Given the description of an element on the screen output the (x, y) to click on. 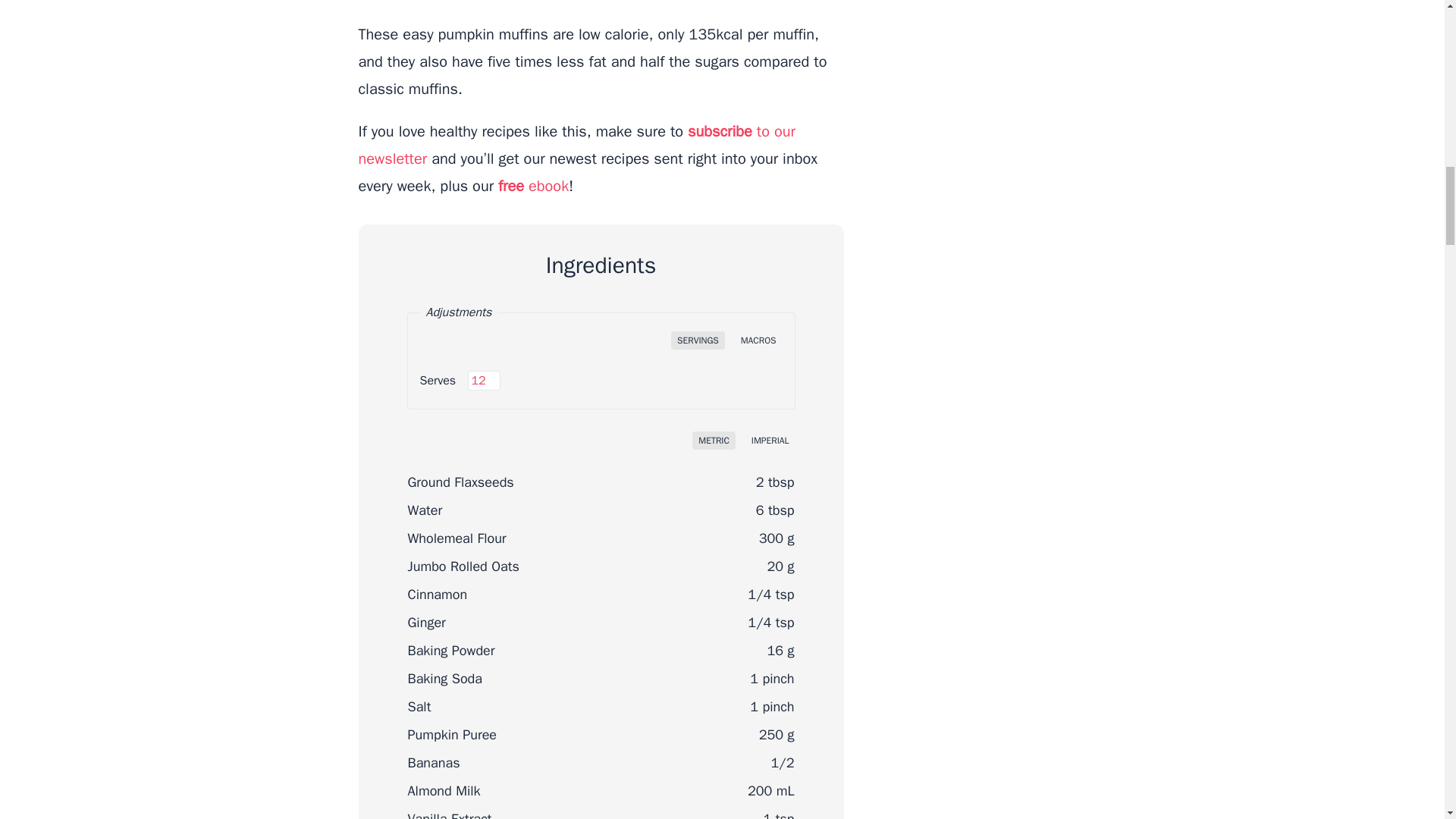
free ebook (533, 185)
subscribe to our newsletter (576, 145)
12 (483, 380)
